Given the description of an element on the screen output the (x, y) to click on. 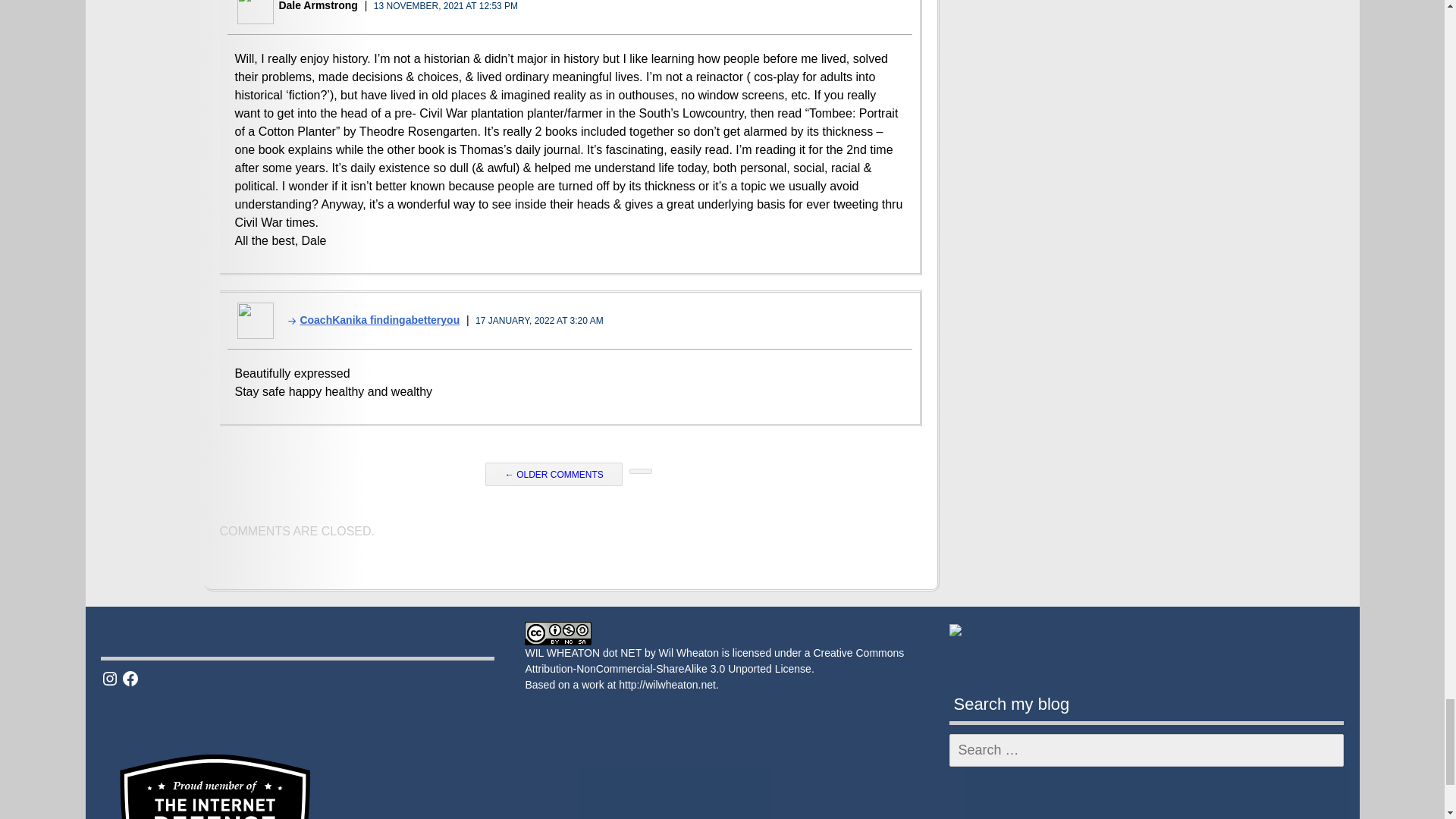
Wil Wheaton (689, 653)
CoachKanika findingabetteryou (369, 319)
17 JANUARY, 2022 AT 3:20 AM (540, 320)
Facebook (129, 678)
Instagram (108, 678)
13 NOVEMBER, 2021 AT 12:53 PM (446, 5)
